Given the description of an element on the screen output the (x, y) to click on. 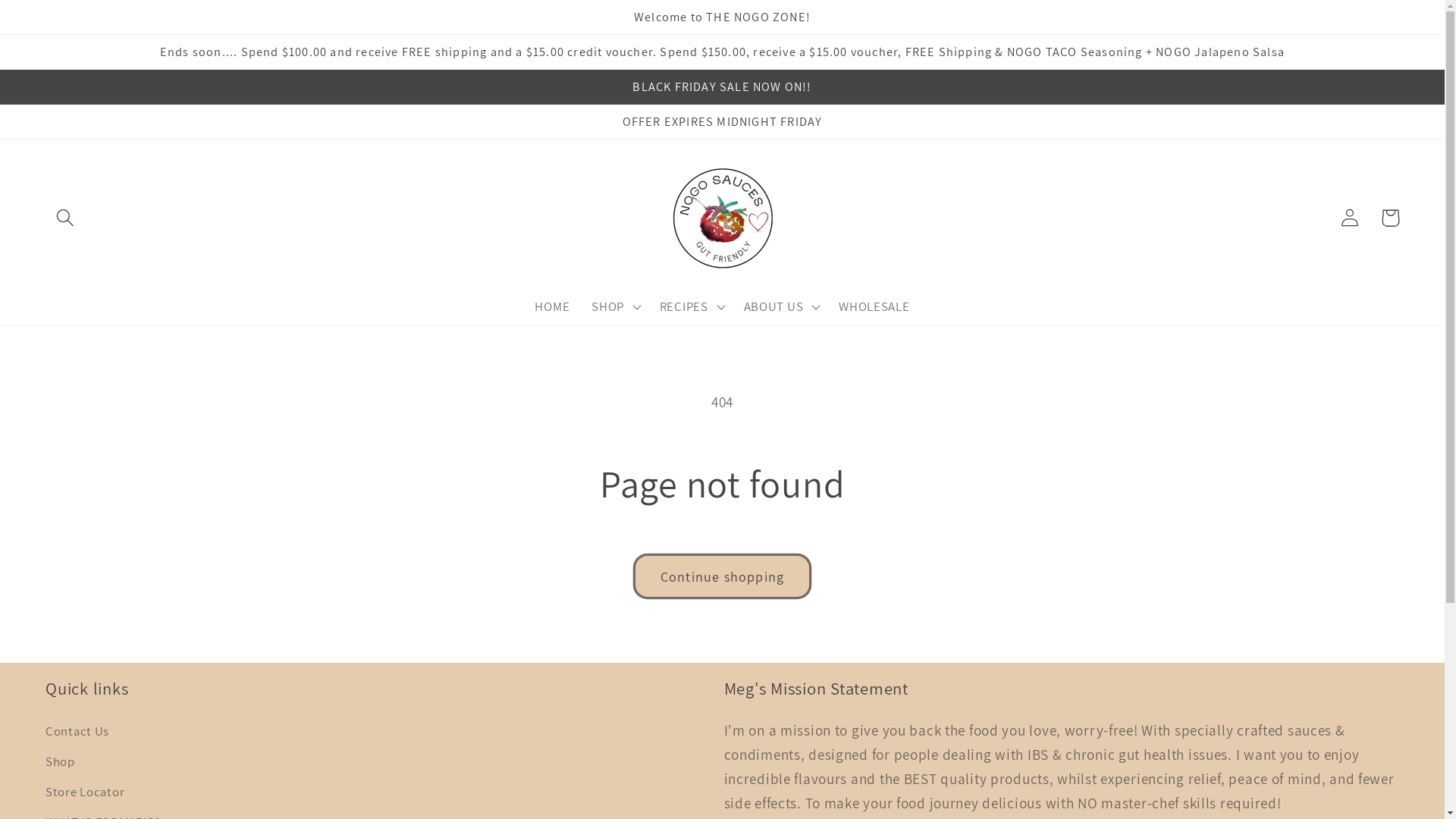
Cart Element type: text (1390, 217)
WHOLESALE Element type: text (874, 306)
HOME Element type: text (552, 306)
Continue shopping Element type: text (722, 576)
Shop Element type: text (60, 761)
Store Locator Element type: text (84, 792)
Log in Element type: text (1350, 217)
Contact Us Element type: text (77, 733)
